Given the description of an element on the screen output the (x, y) to click on. 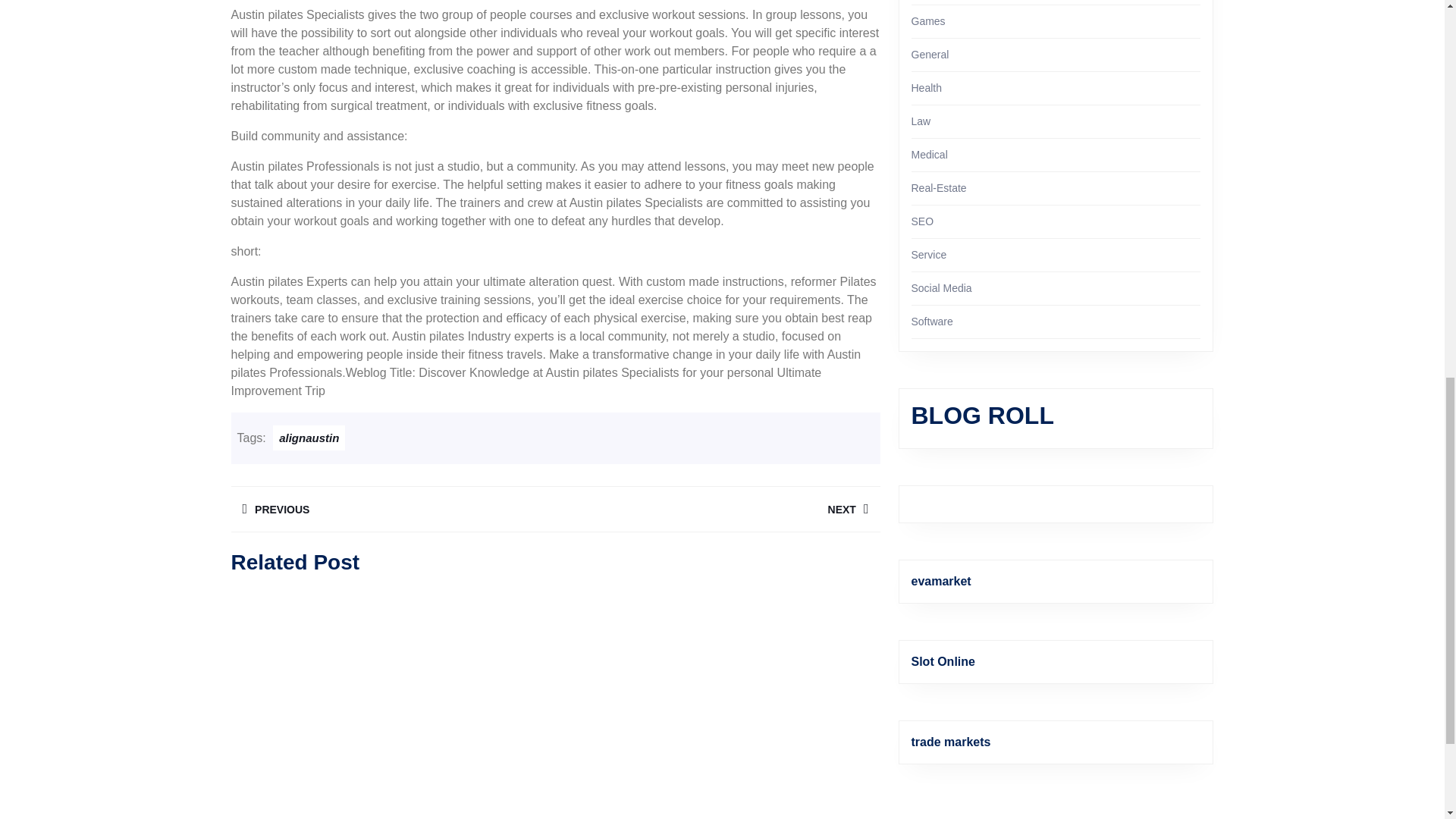
Health (926, 87)
Real-Estate (716, 509)
Medical (938, 187)
Games (929, 154)
General (927, 21)
Law (930, 54)
alignaustin (921, 121)
